Given the description of an element on the screen output the (x, y) to click on. 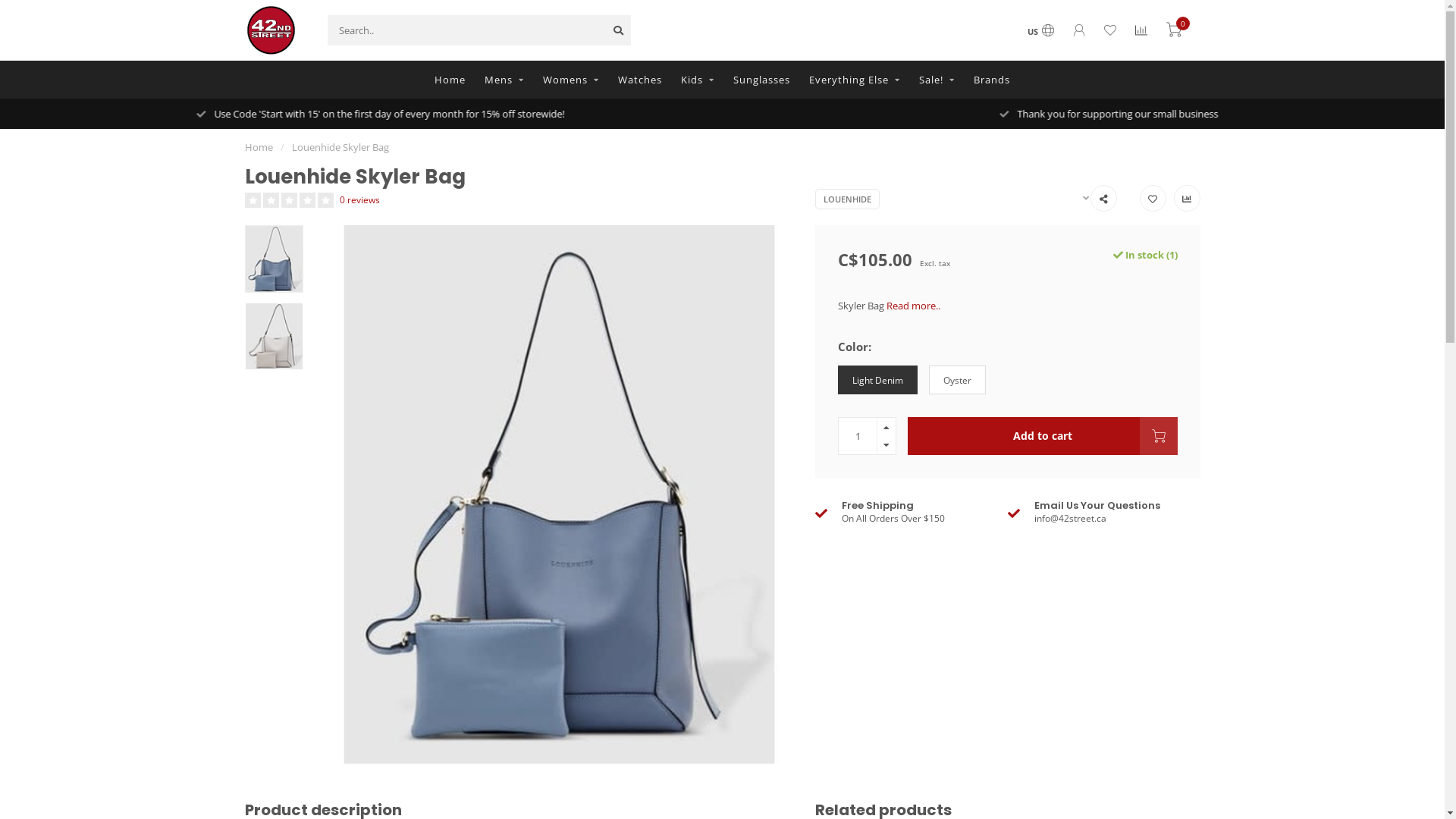
Home Element type: text (449, 79)
Add to cart Element type: text (1042, 436)
Sale! Element type: text (936, 79)
LOUENHIDE Element type: text (847, 198)
Light Denim Element type: text (877, 380)
Mens Element type: text (504, 79)
Womens Element type: text (570, 79)
0 Element type: text (1173, 32)
Brands Element type: text (991, 79)
Home Element type: text (258, 146)
Everything Else Element type: text (854, 79)
Watches Element type: text (640, 79)
US Element type: text (1039, 31)
0 reviews Element type: text (359, 199)
Kids Element type: text (697, 79)
Louenhide Skyler Bag Element type: text (339, 146)
Oyster Element type: text (956, 380)
Sunglasses Element type: text (761, 79)
Read more.. Element type: text (913, 305)
